Given the description of an element on the screen output the (x, y) to click on. 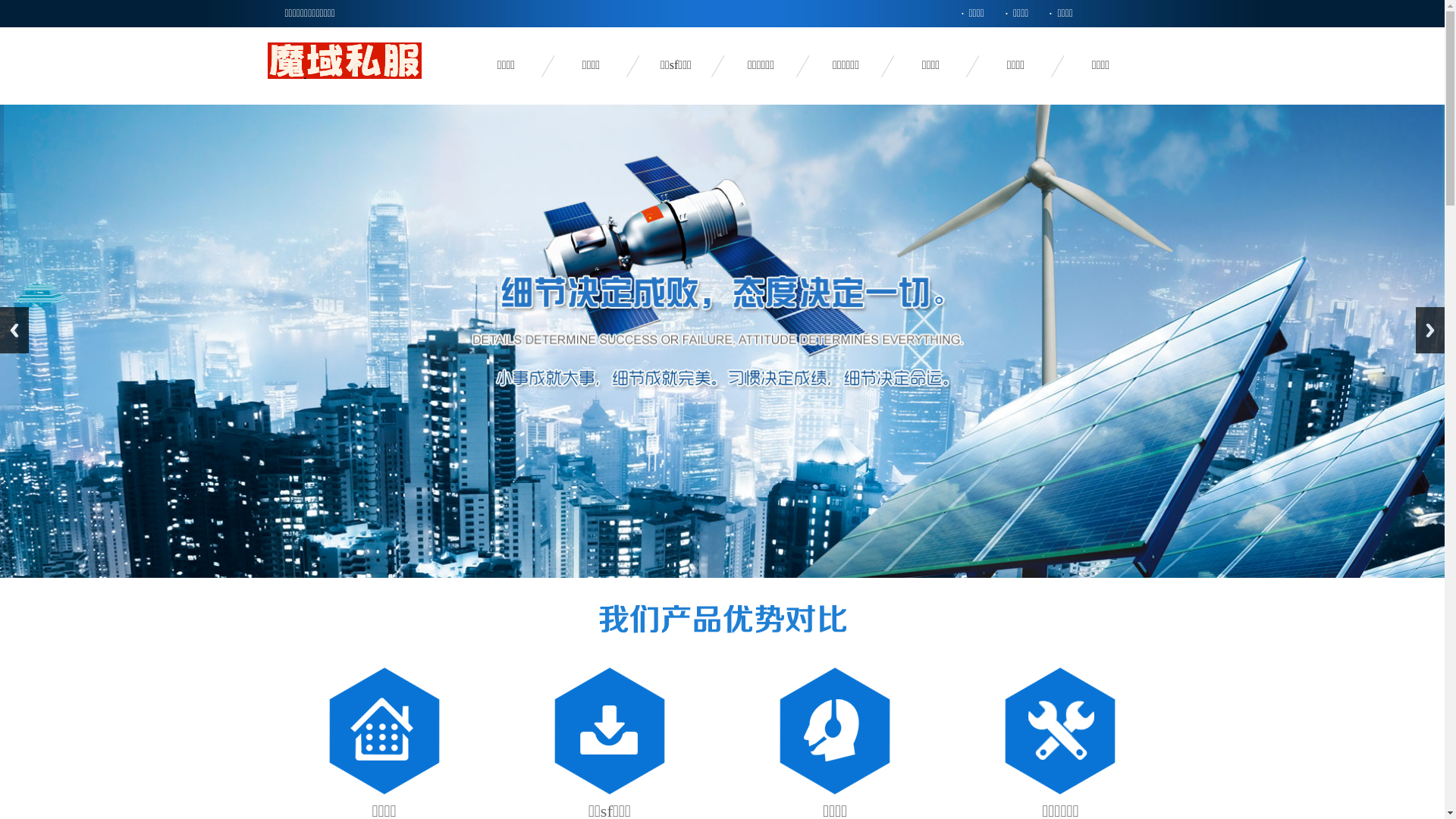
Next Element type: text (1429, 330)
Previous Element type: text (14, 330)
